Given the description of an element on the screen output the (x, y) to click on. 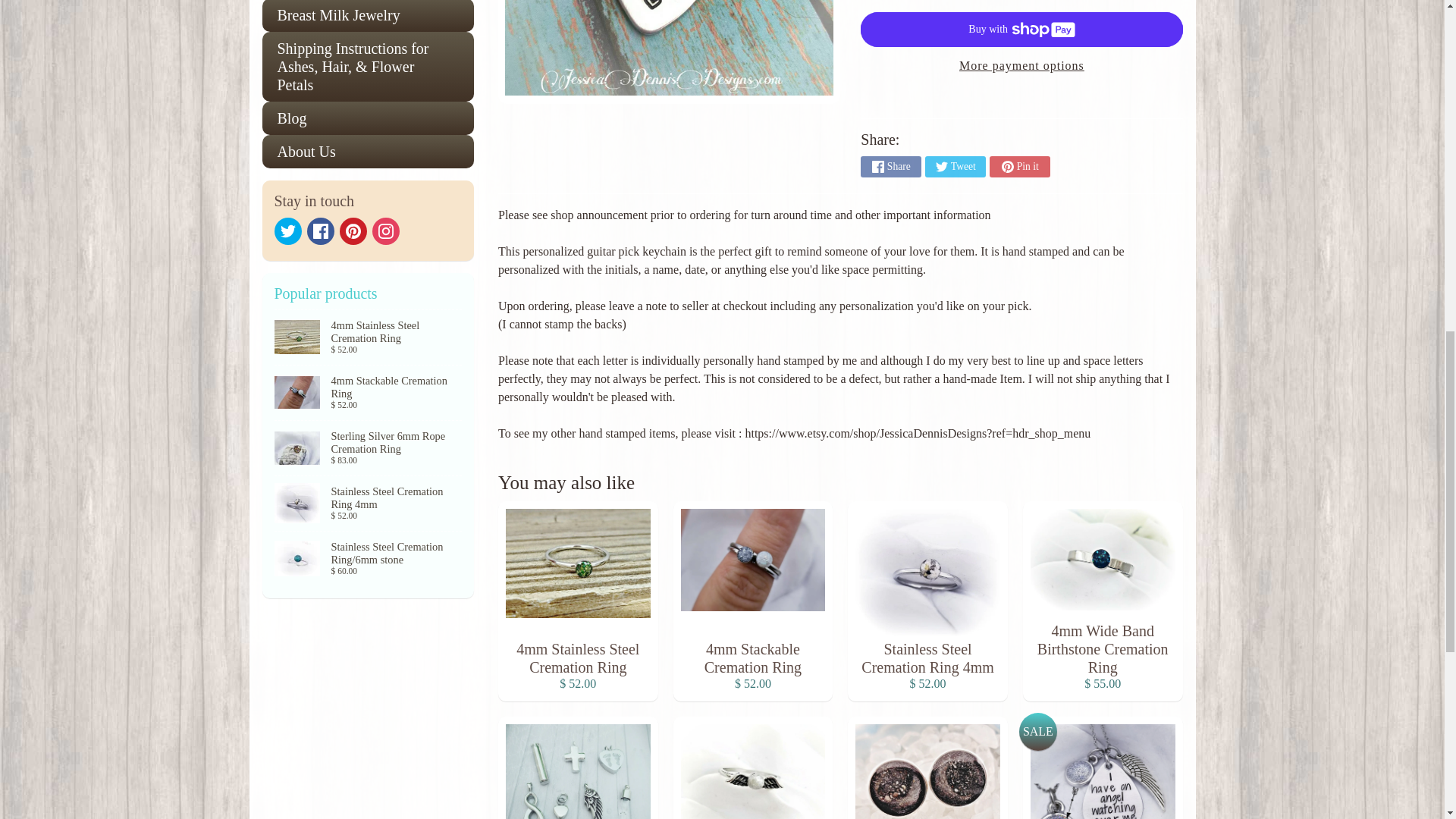
Sterling Silver 6mm Rope Cremation Ring (369, 447)
Share on Facebook (890, 166)
Facebook (319, 230)
4mm Stainless Steel Cremation Ring (369, 337)
Stainless Steel Cremation Ring 4mm (369, 502)
Blog (368, 118)
Twitter (288, 230)
4mm Stackable Cremation Ring (369, 392)
Pinterest (352, 230)
Instagram (384, 230)
Pin on Pinterest (1019, 166)
Breast Milk Jewelry (368, 15)
Tweet on Twitter (954, 166)
